Given the description of an element on the screen output the (x, y) to click on. 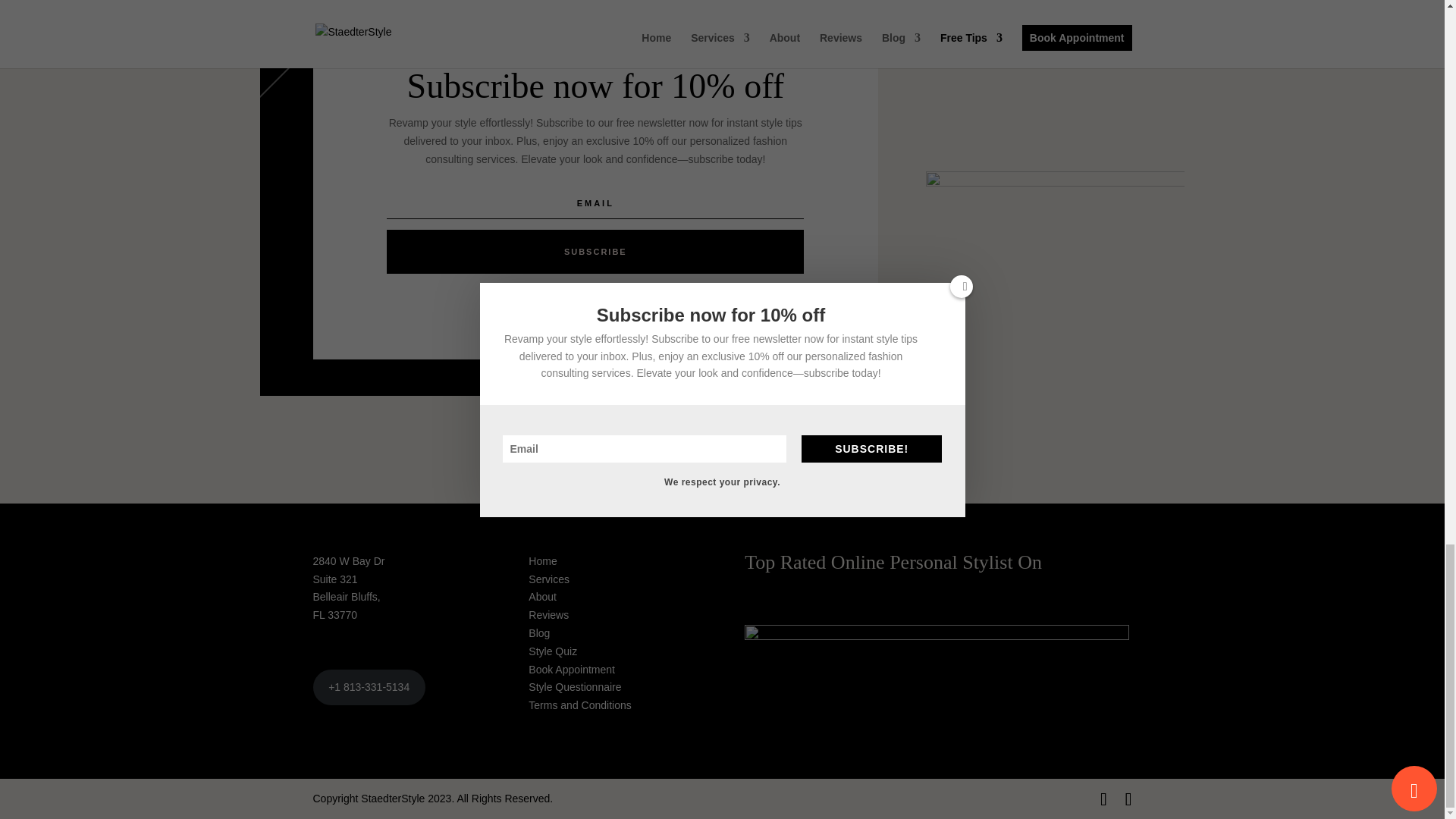
SUBSCRIBE (595, 252)
Blog (539, 633)
Reviews (548, 614)
About (542, 596)
Services (548, 579)
Style Quiz (552, 651)
Home (542, 561)
